Given the description of an element on the screen output the (x, y) to click on. 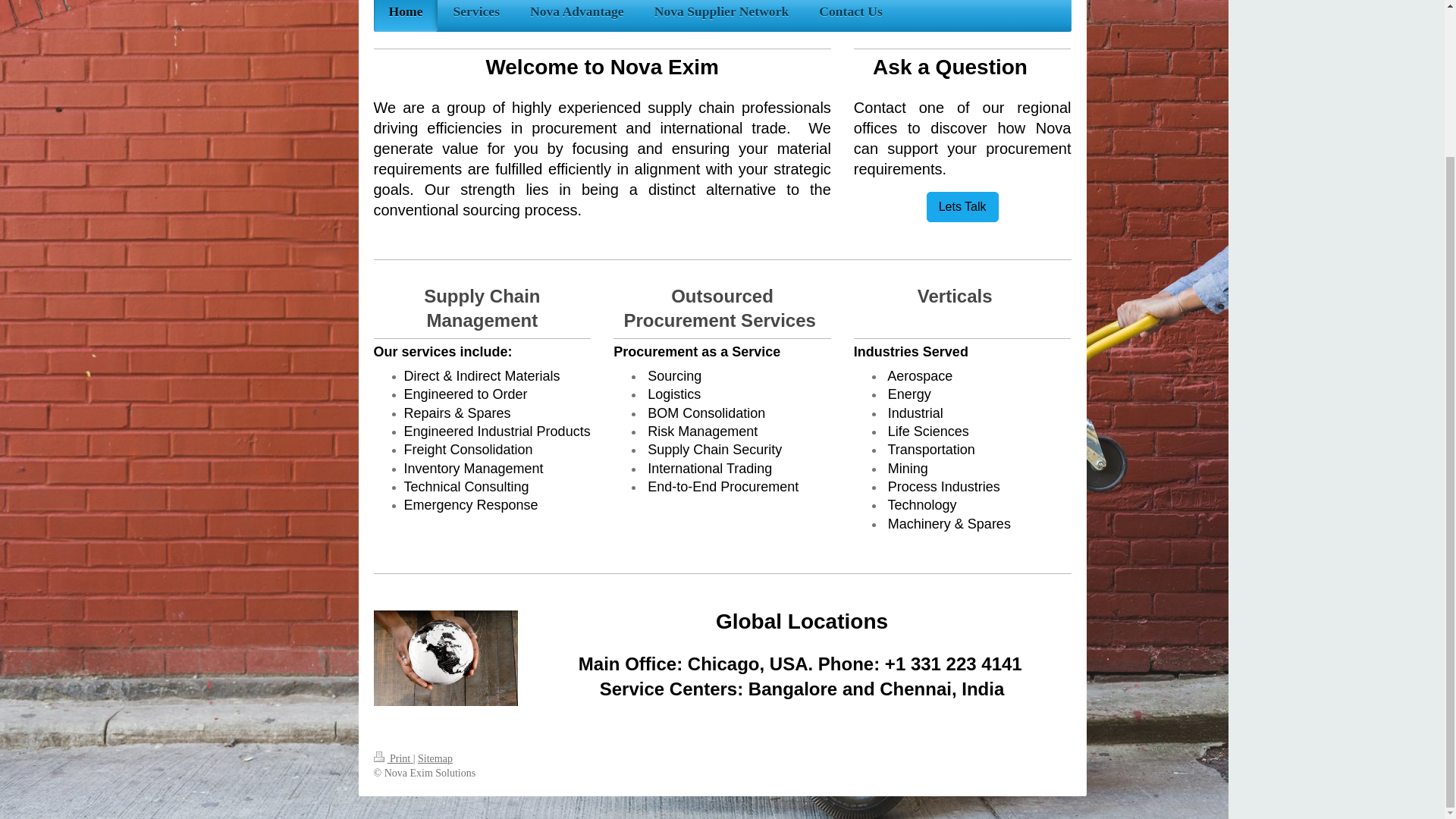
Contact Us (850, 15)
Print (392, 758)
Home (405, 15)
Nova Advantage (577, 15)
Sitemap (434, 758)
Nova Supplier Network (722, 15)
Lets Talk (962, 206)
Services (476, 15)
